Given the description of an element on the screen output the (x, y) to click on. 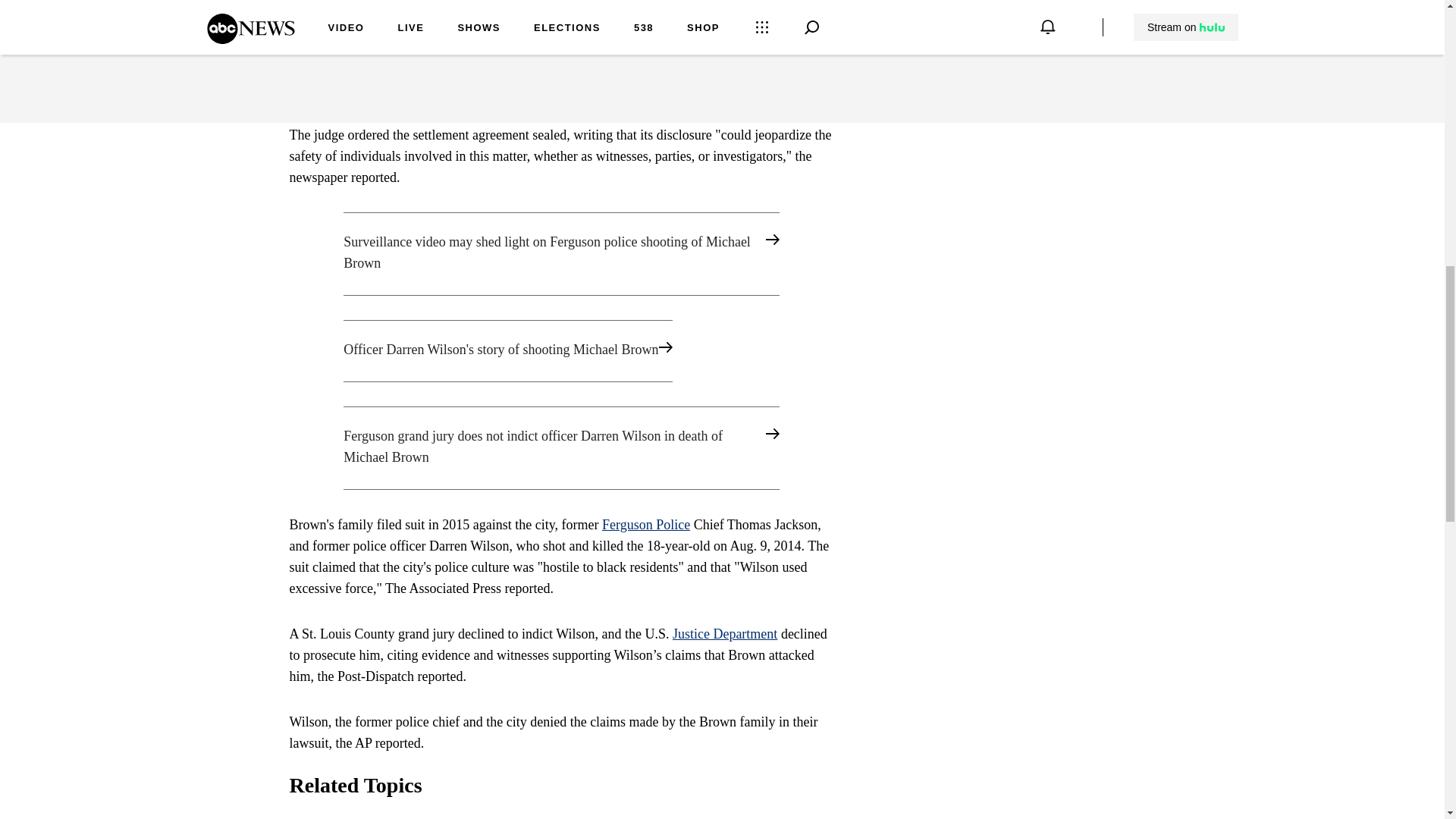
Justice Department (724, 633)
Ferguson Police (646, 524)
Officer Darren Wilson's story of shooting Michael Brown (560, 351)
